Given the description of an element on the screen output the (x, y) to click on. 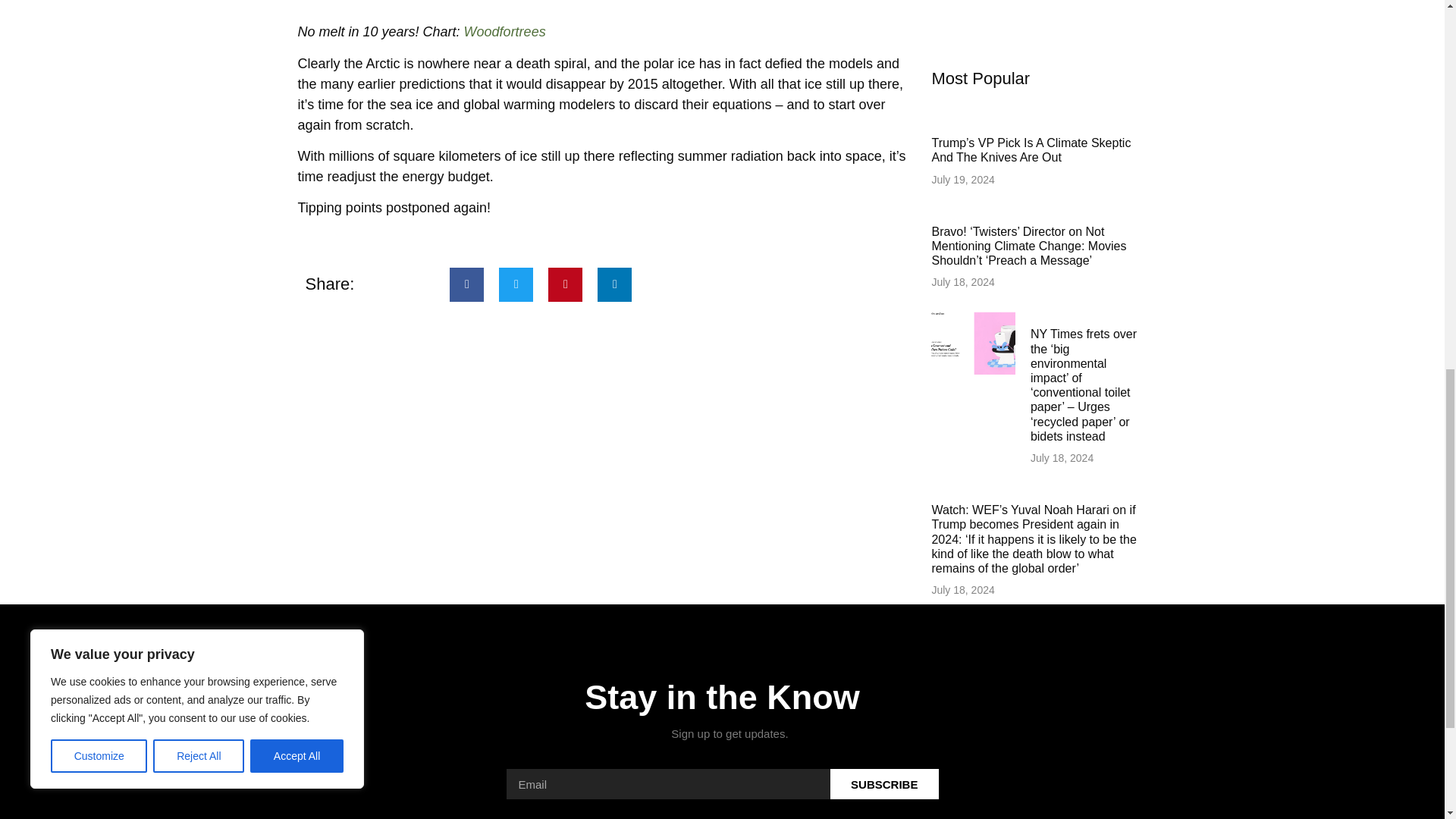
Woodfortrees (505, 31)
